Given the description of an element on the screen output the (x, y) to click on. 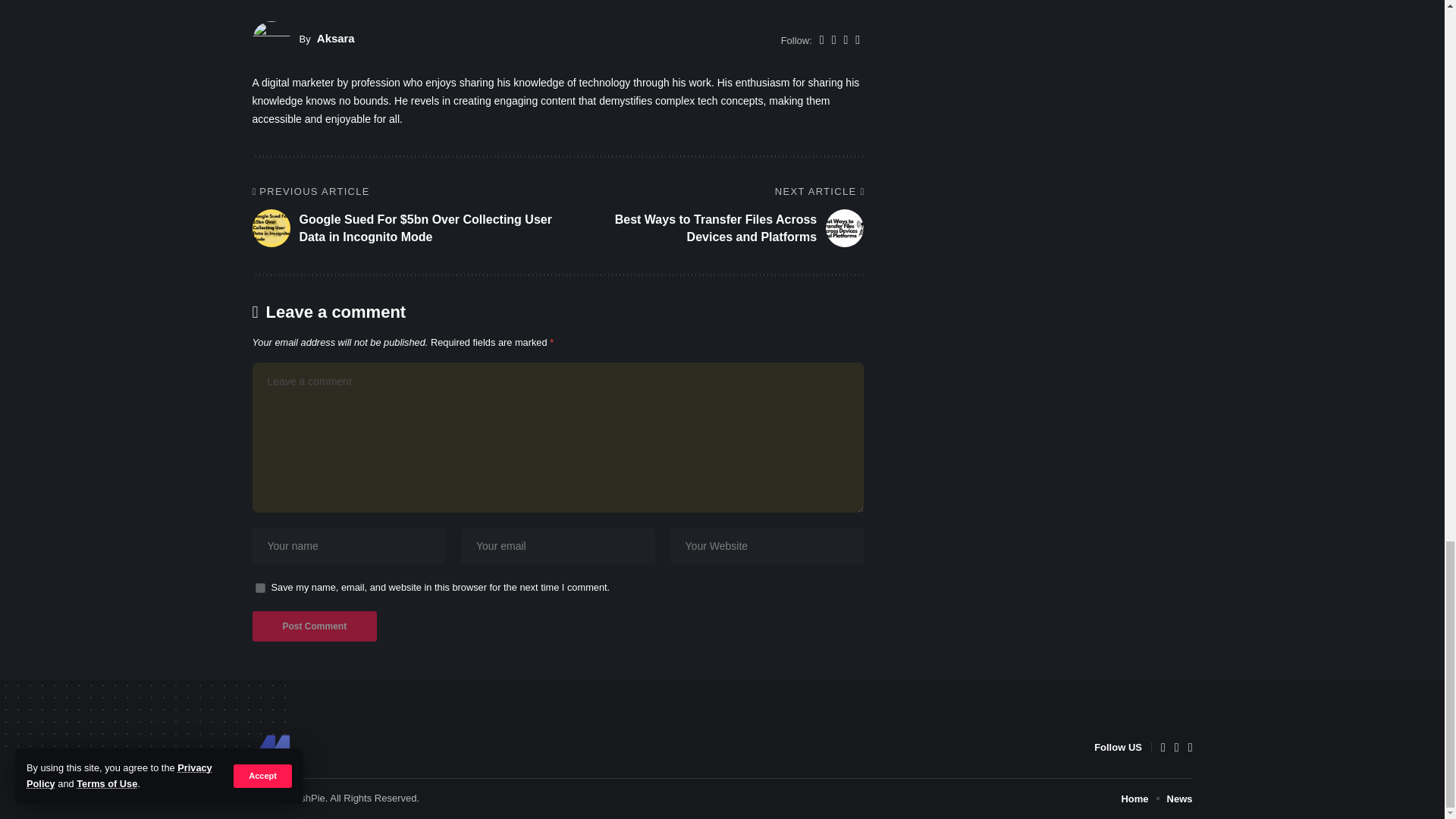
Meshpie (270, 747)
Post Comment (314, 625)
yes (259, 587)
